Given the description of an element on the screen output the (x, y) to click on. 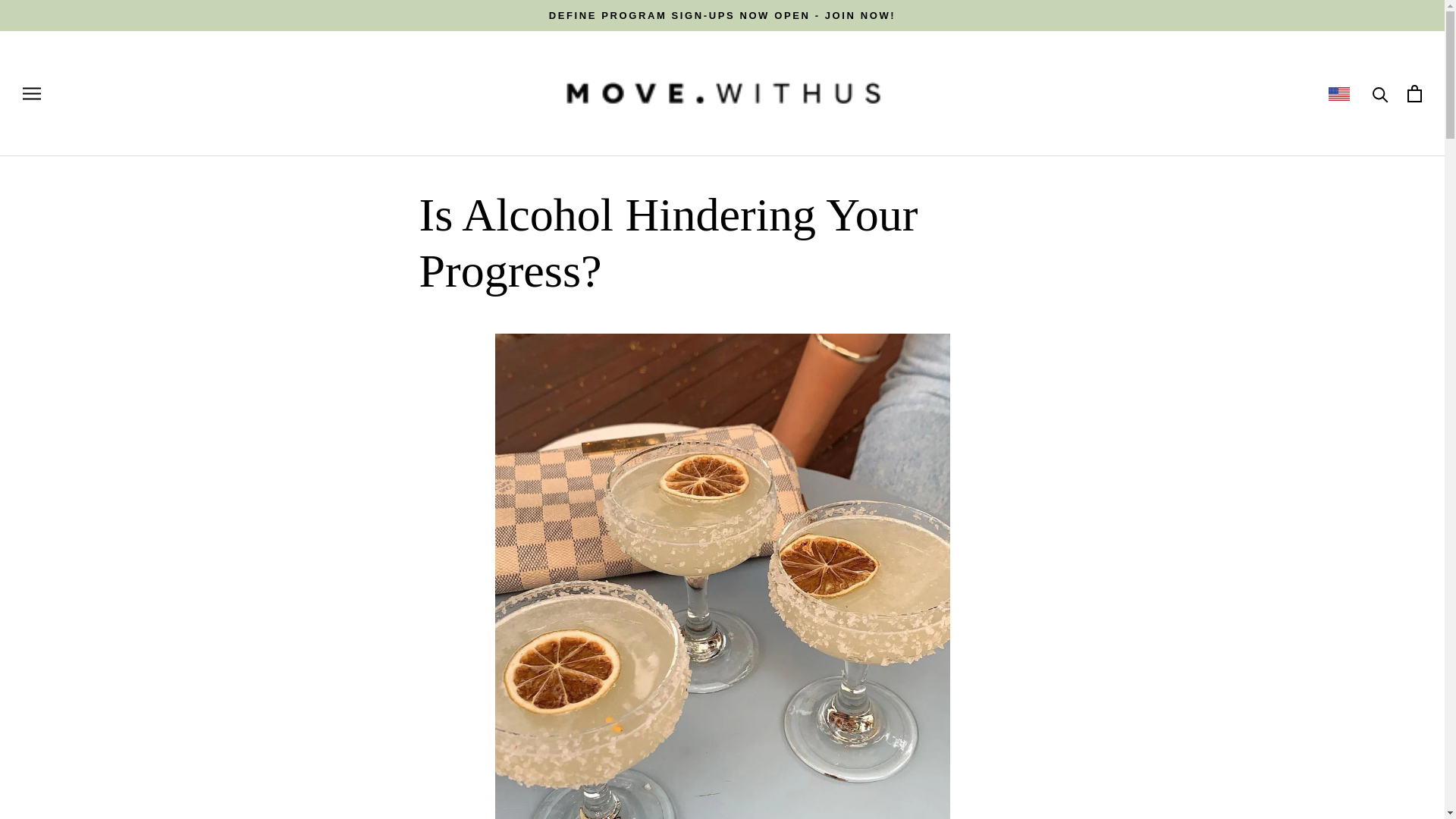
DEFINE PROGRAM SIGN-UPS NOW OPEN - JOIN NOW! (721, 15)
